Given the description of an element on the screen output the (x, y) to click on. 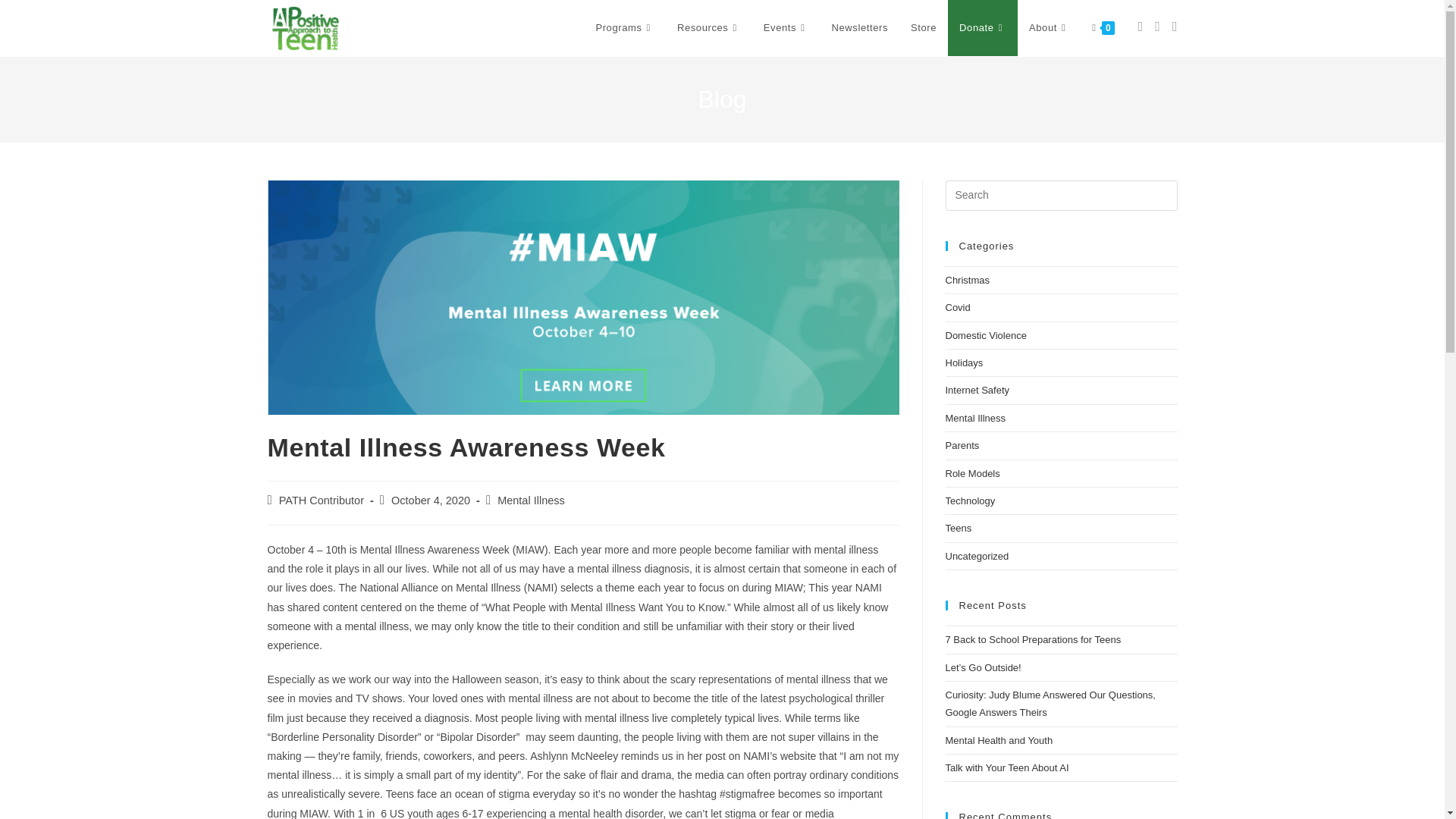
Posts by PATH Contributor (321, 500)
Donate (982, 28)
About (1048, 28)
Events (786, 28)
Programs (624, 28)
Newsletters (860, 28)
Resources (708, 28)
